Given the description of an element on the screen output the (x, y) to click on. 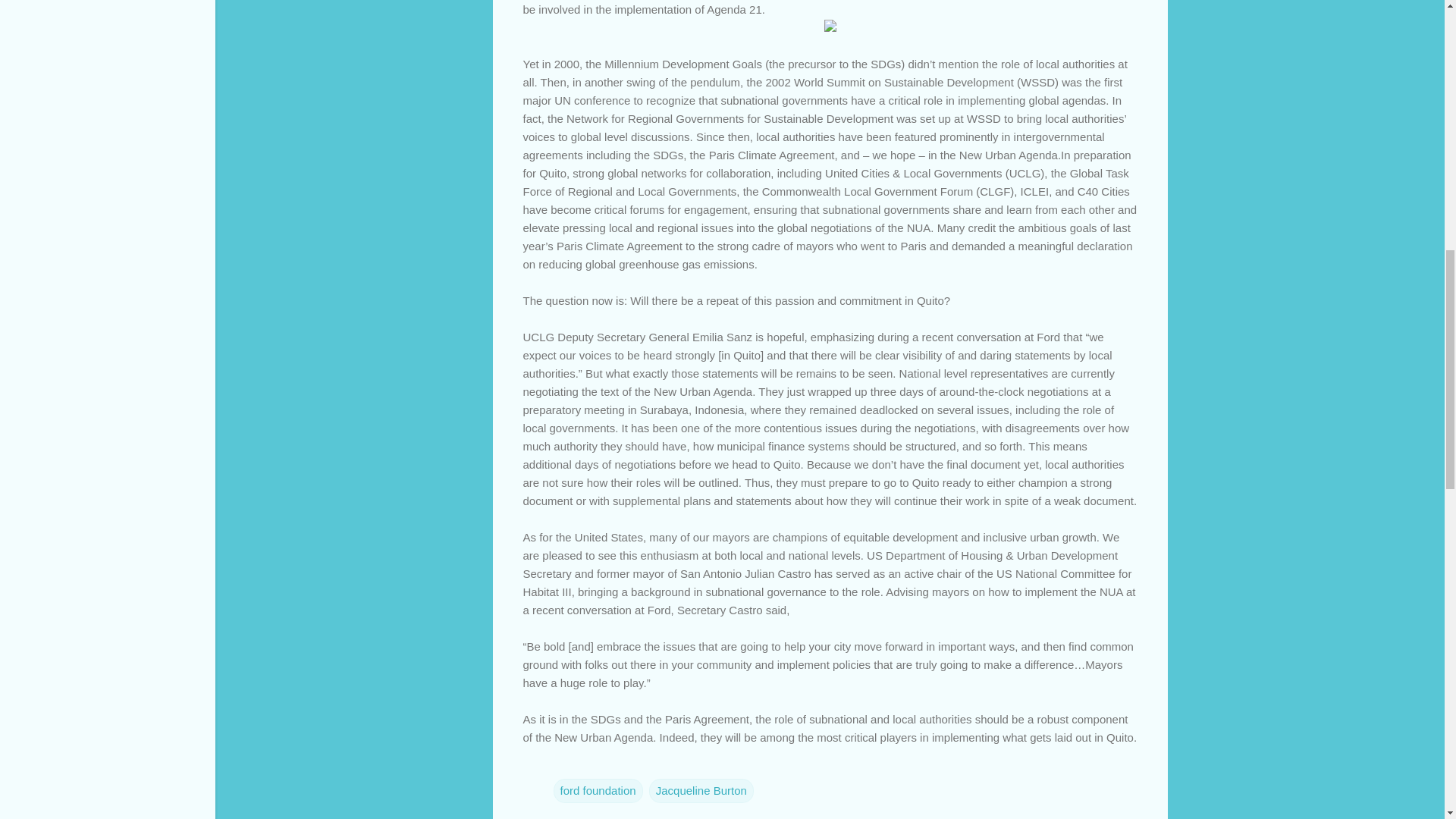
ford foundation (598, 790)
Jacqueline Burton (701, 790)
